Given the description of an element on the screen output the (x, y) to click on. 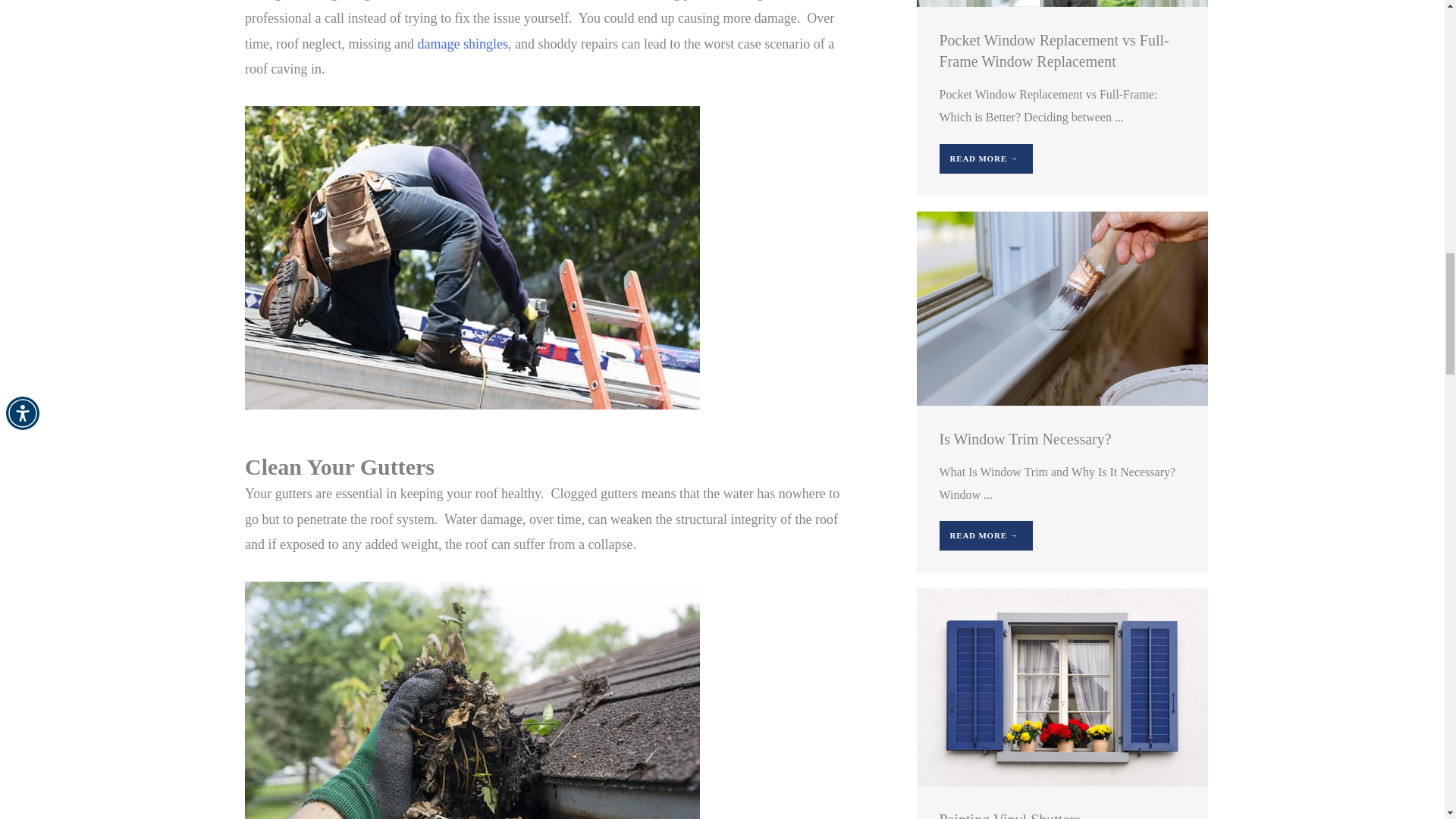
Painting Vinyl Shutters (1061, 686)
Is Window Trim Necessary? (1061, 307)
